Given the description of an element on the screen output the (x, y) to click on. 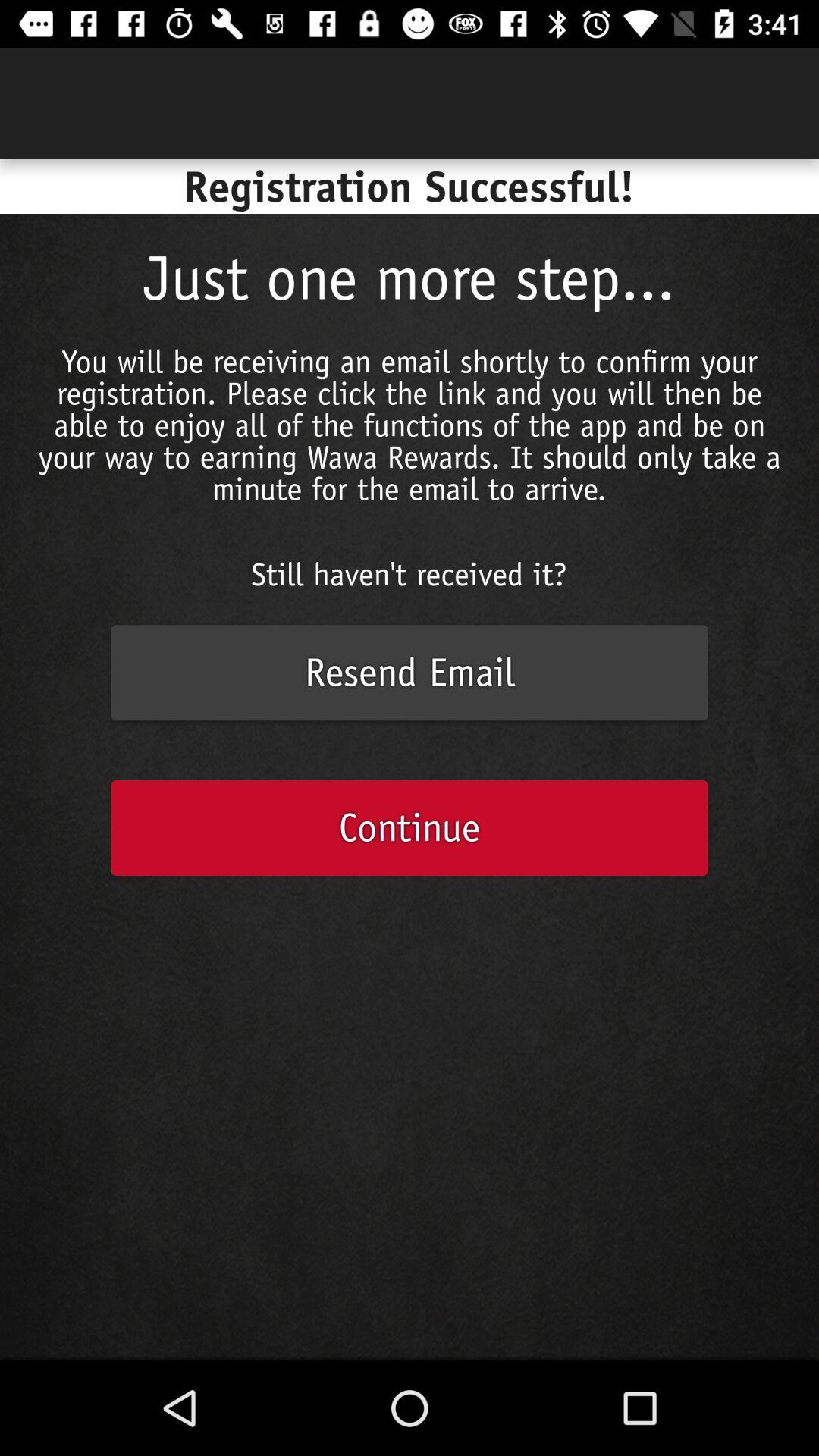
click the icon below the still haven t icon (409, 672)
